Given the description of an element on the screen output the (x, y) to click on. 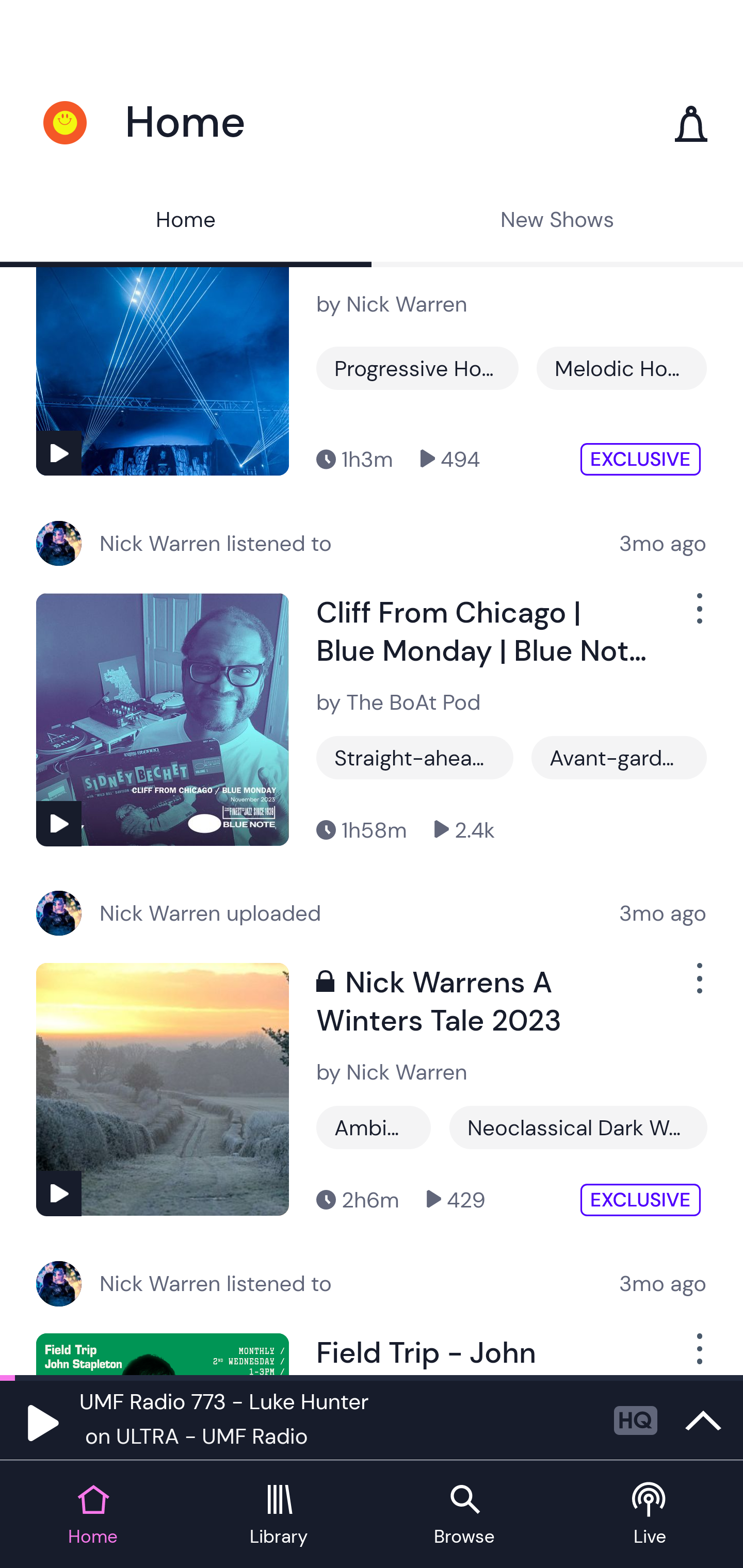
Home (185, 221)
New Shows (557, 221)
Progressive House (417, 368)
Melodic House (621, 368)
Show Options Menu Button (697, 615)
Straight-ahead Jazz (414, 757)
Avant-garde Jazz (618, 757)
Show Options Menu Button (697, 985)
Ambient (373, 1127)
Neoclassical Dark Wave (577, 1127)
Show Options Menu Button (697, 1353)
Home tab Home (92, 1515)
Library tab Library (278, 1515)
Browse tab Browse (464, 1515)
Live tab Live (650, 1515)
